Given the description of an element on the screen output the (x, y) to click on. 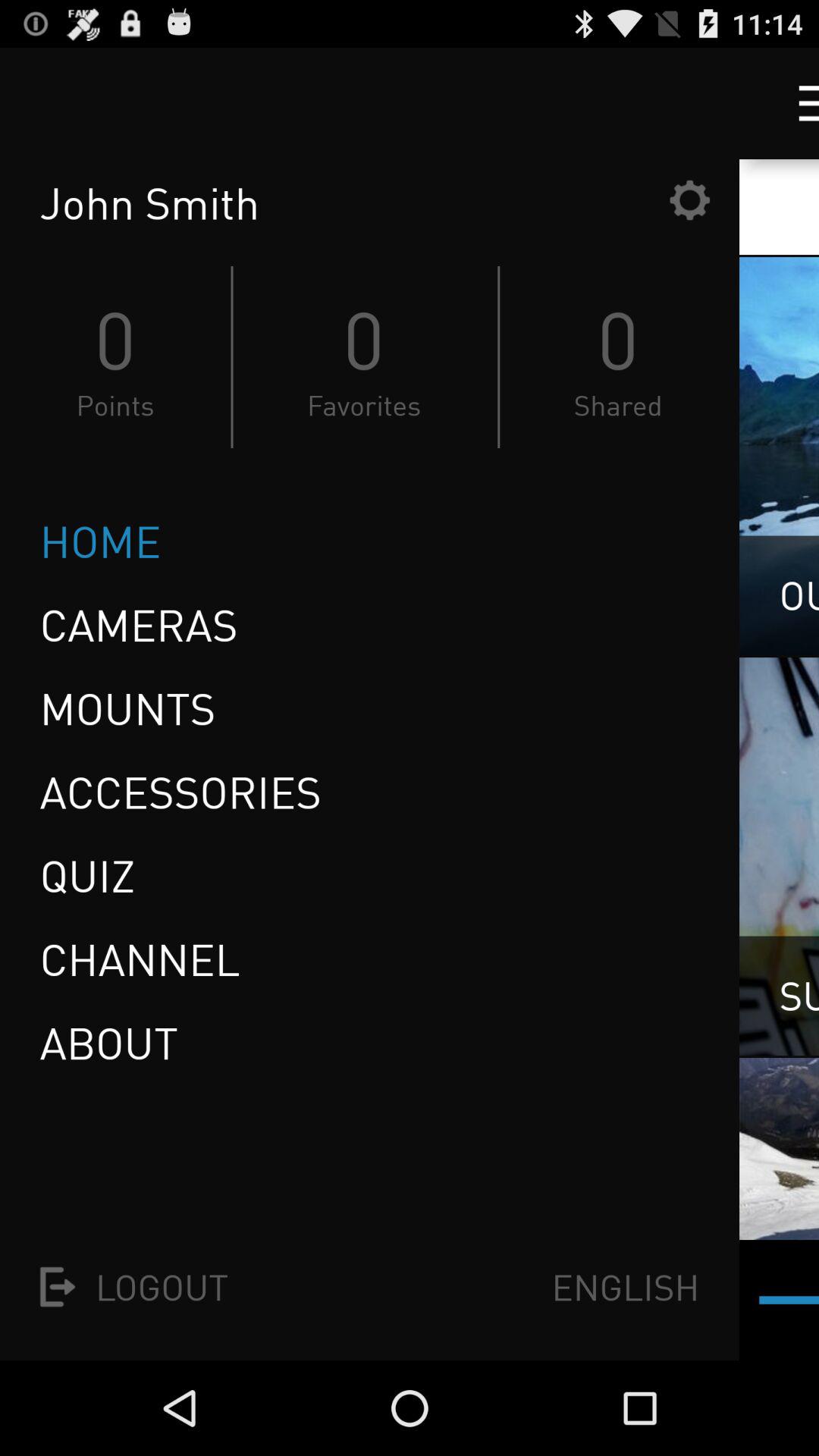
open drop down menu (795, 102)
